Given the description of an element on the screen output the (x, y) to click on. 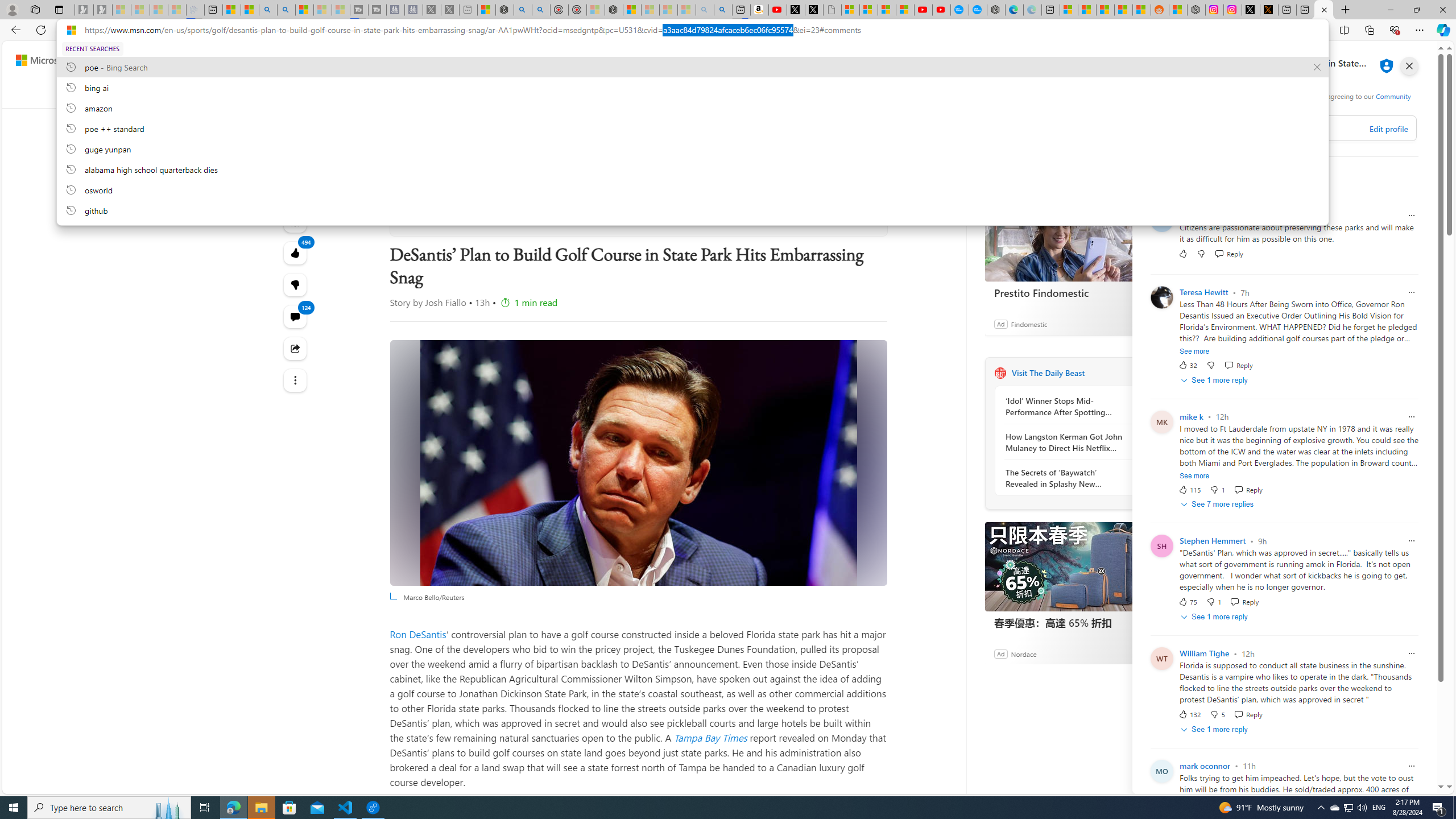
Golf (630, 92)
The most popular Google 'how to' searches (977, 9)
NFL (455, 92)
Profile Picture (1161, 296)
115 Like (1189, 489)
Nordace - Nordace has arrived Hong Kong (996, 9)
William Tighe (1204, 653)
Wildlife - MSN (486, 9)
